Given the description of an element on the screen output the (x, y) to click on. 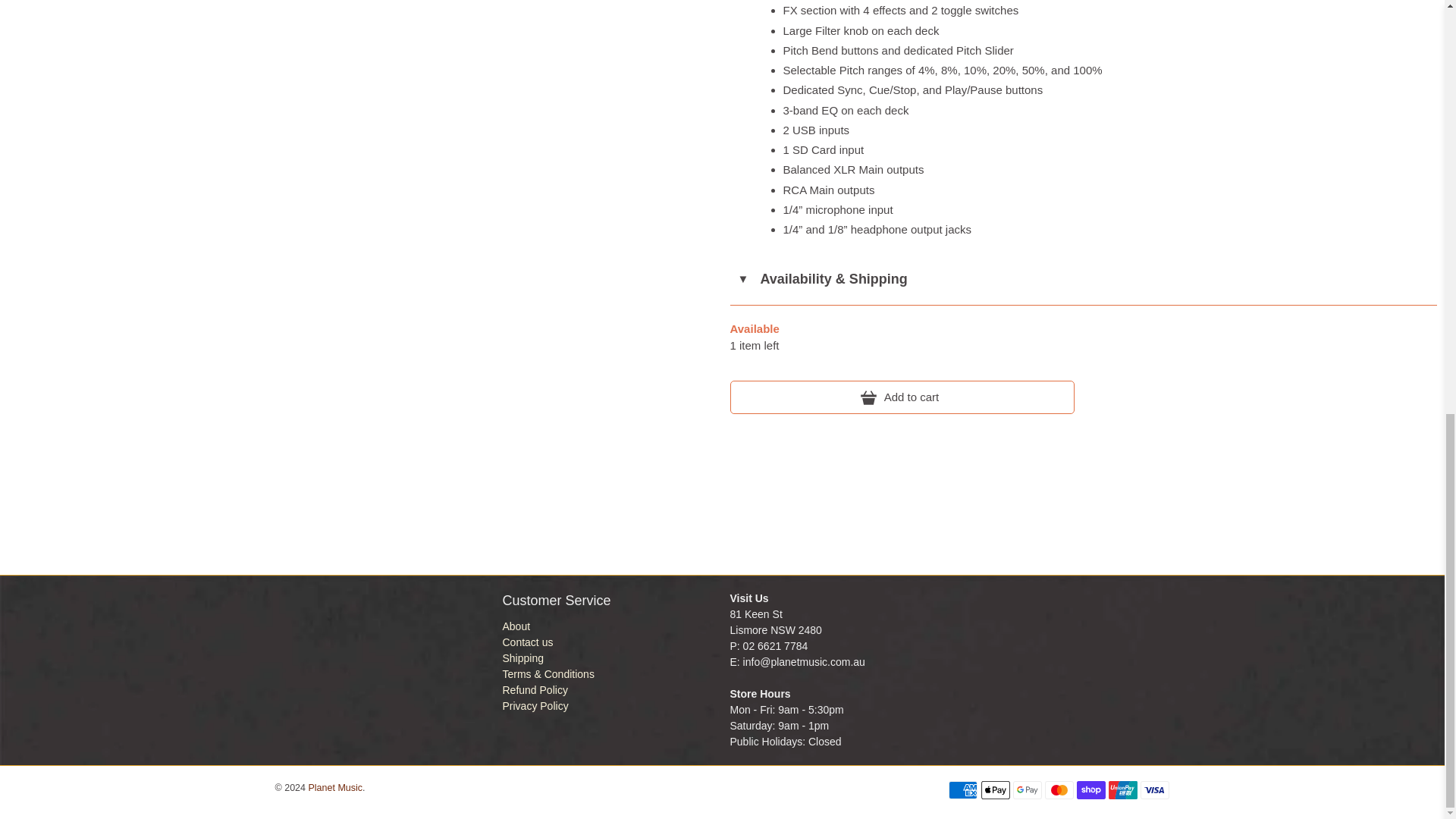
Google Pay (1027, 790)
Mastercard (1059, 790)
Union Pay (1122, 790)
Visa (1154, 790)
Shop Pay (1091, 790)
American Express (962, 790)
Apple Pay (995, 790)
Planet Music (359, 666)
